Given the description of an element on the screen output the (x, y) to click on. 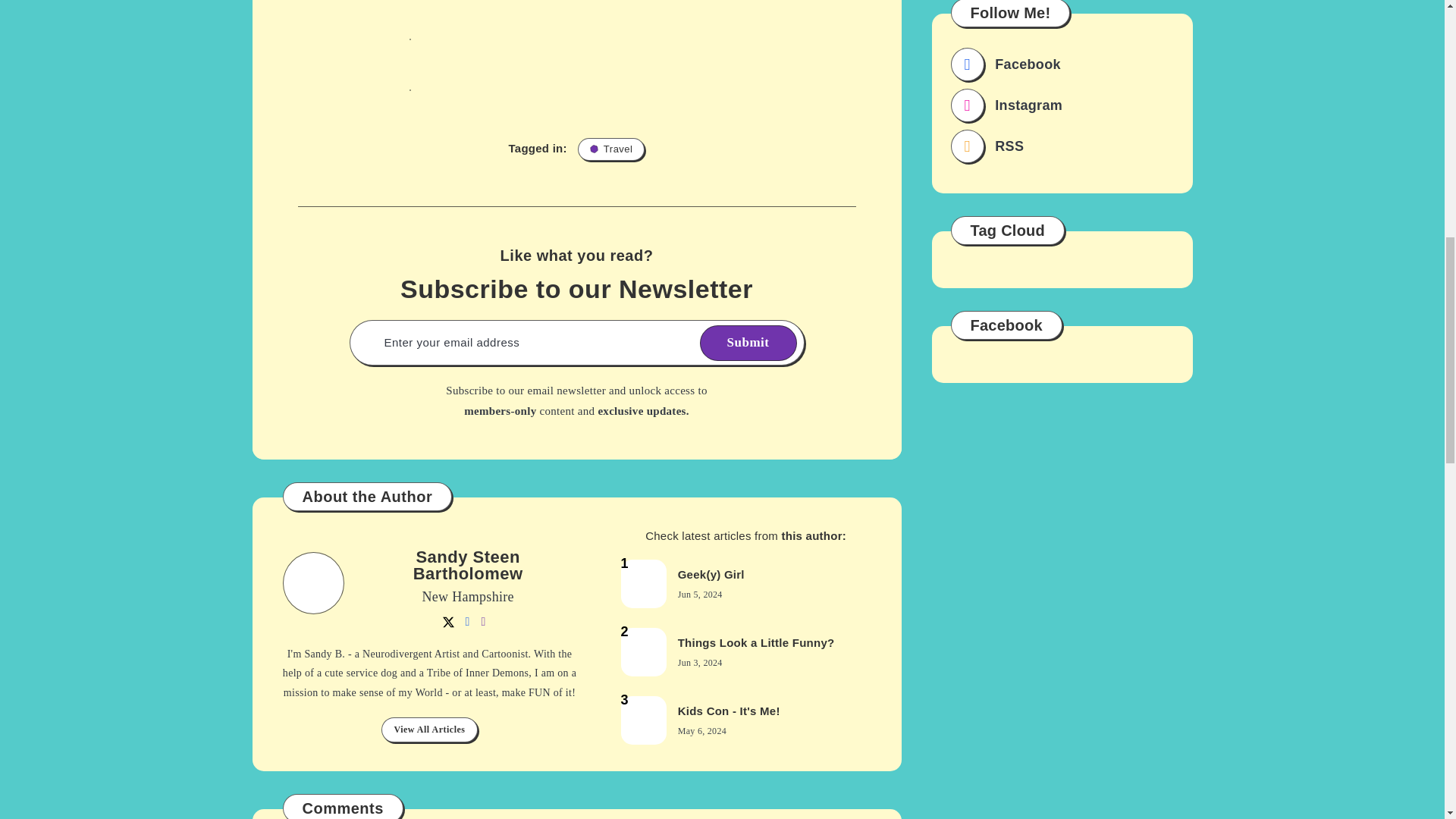
Travel (611, 149)
Submit (748, 343)
Sandy Steen Bartholomew (467, 567)
